Given the description of an element on the screen output the (x, y) to click on. 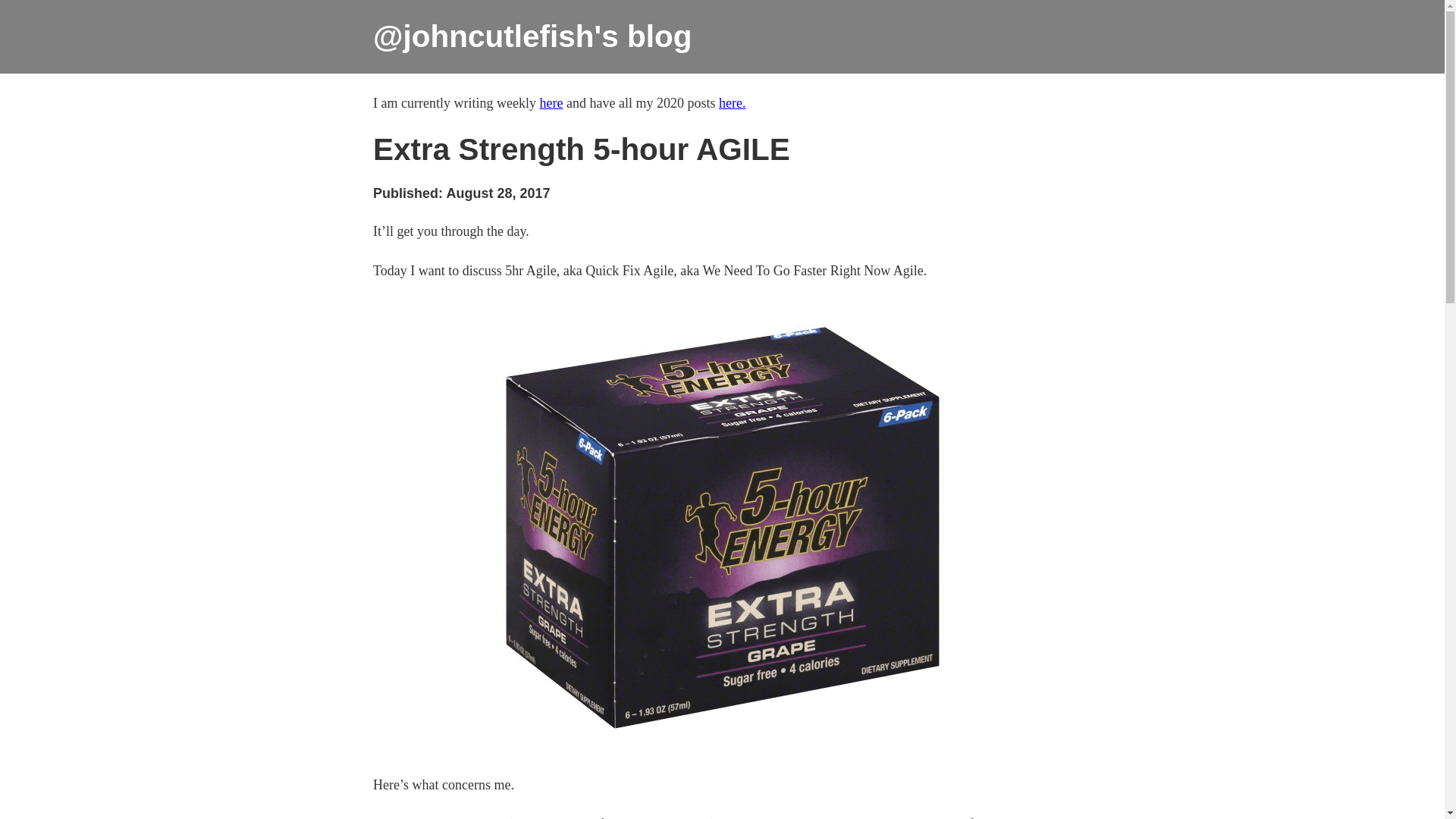
here. (732, 102)
here (551, 102)
